Given the description of an element on the screen output the (x, y) to click on. 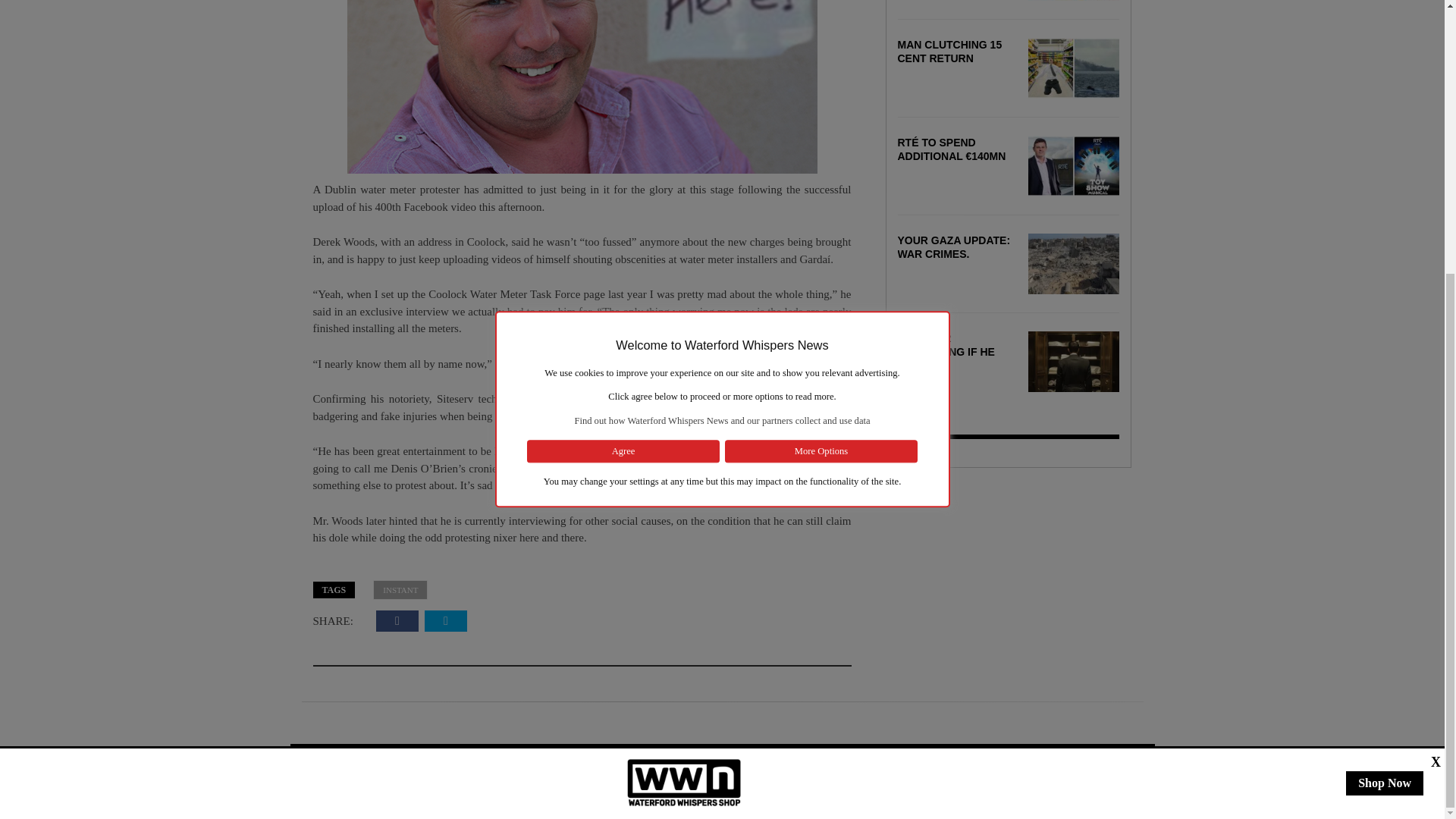
View all posts tagged instant (400, 589)
Support us on waterfordwhispers.shop (684, 379)
